Given the description of an element on the screen output the (x, y) to click on. 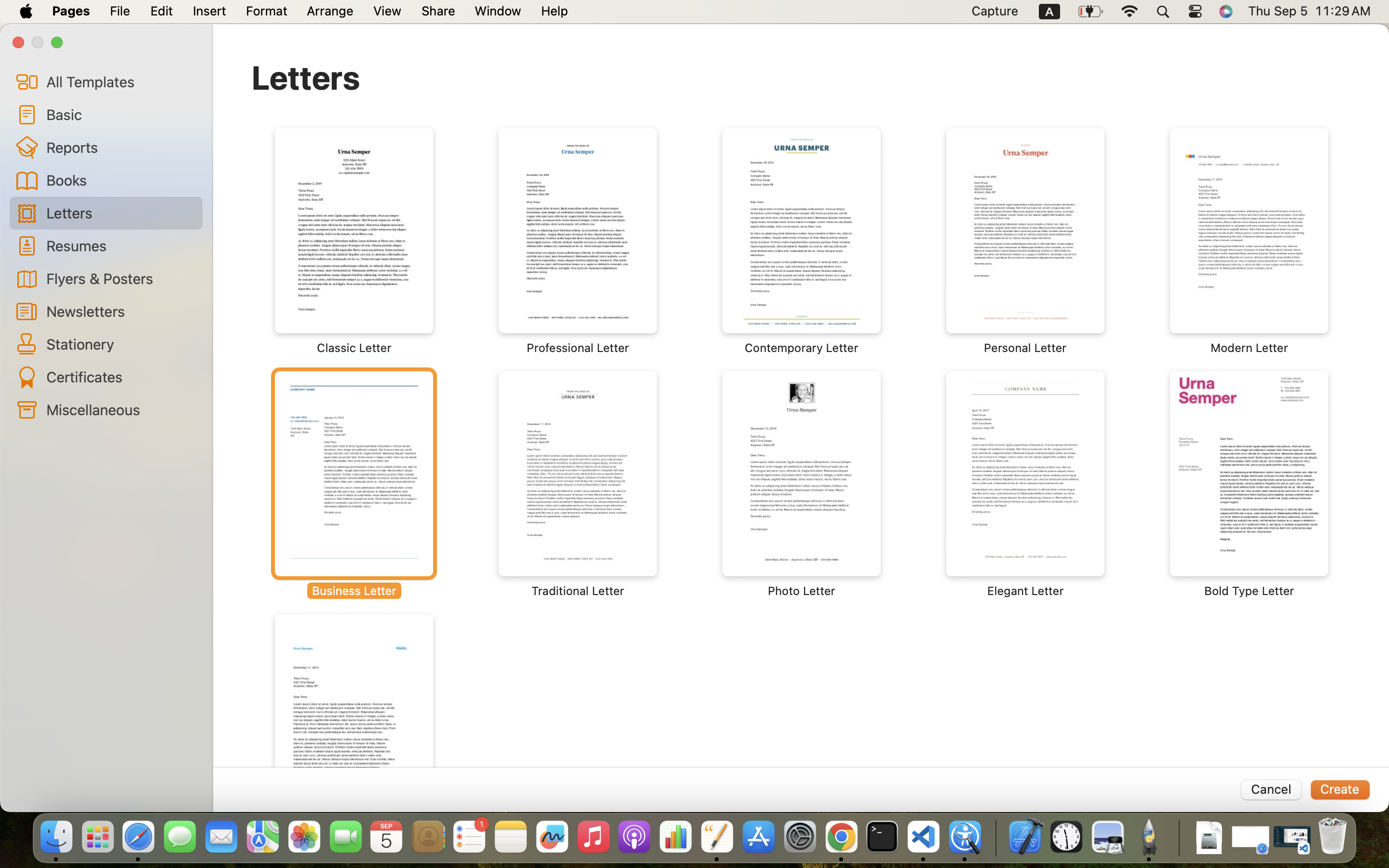
‎⁨Professional Letter⁩ Element type: AXButton (577, 241)
Books Element type: AXStaticText (120, 179)
‎⁨Contemporary Letter⁩ Element type: AXButton (801, 241)
‎⁨Modern Letter⁩ Element type: AXButton (1249, 241)
